Given the description of an element on the screen output the (x, y) to click on. 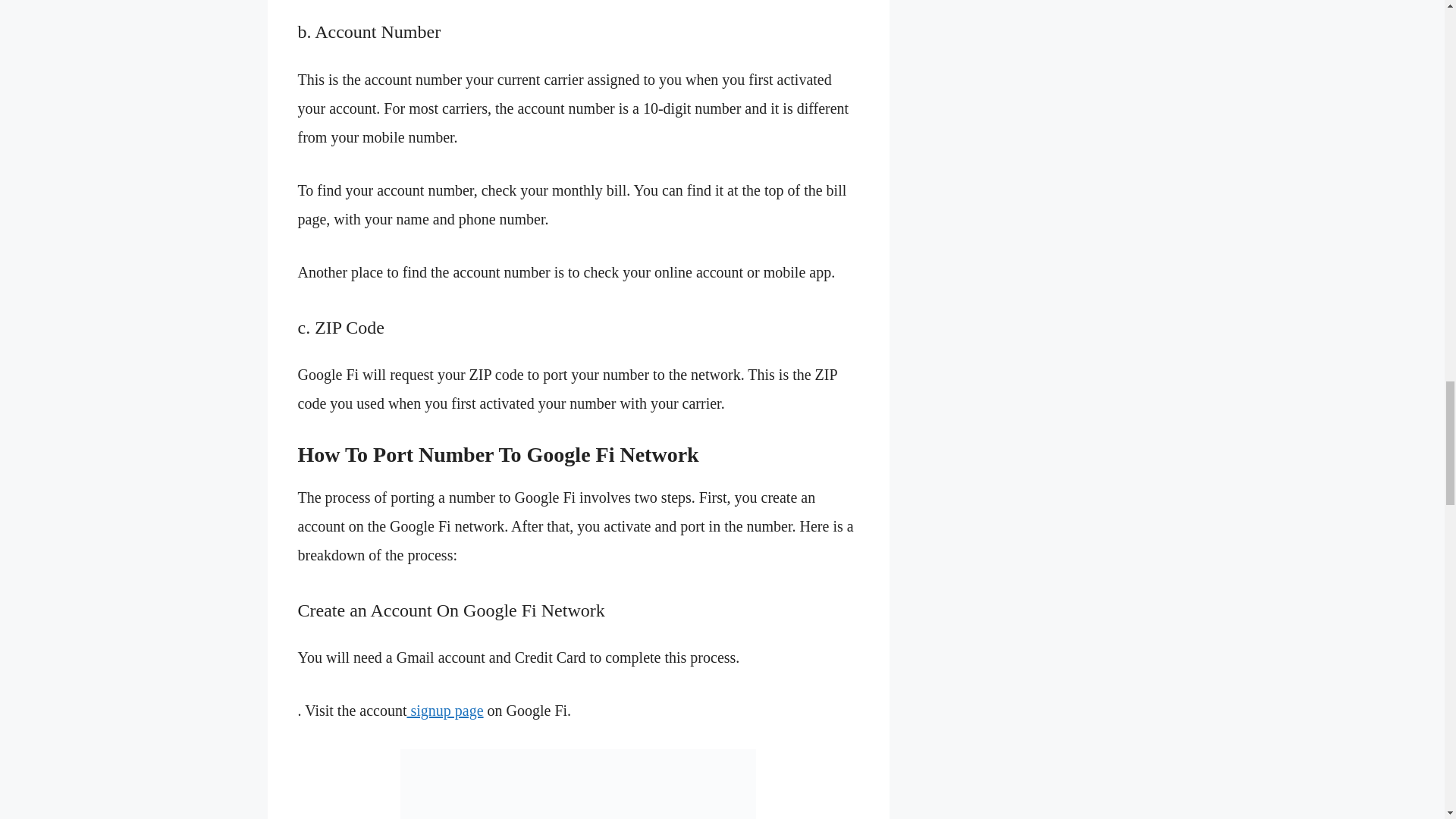
 signup page (444, 710)
